Given the description of an element on the screen output the (x, y) to click on. 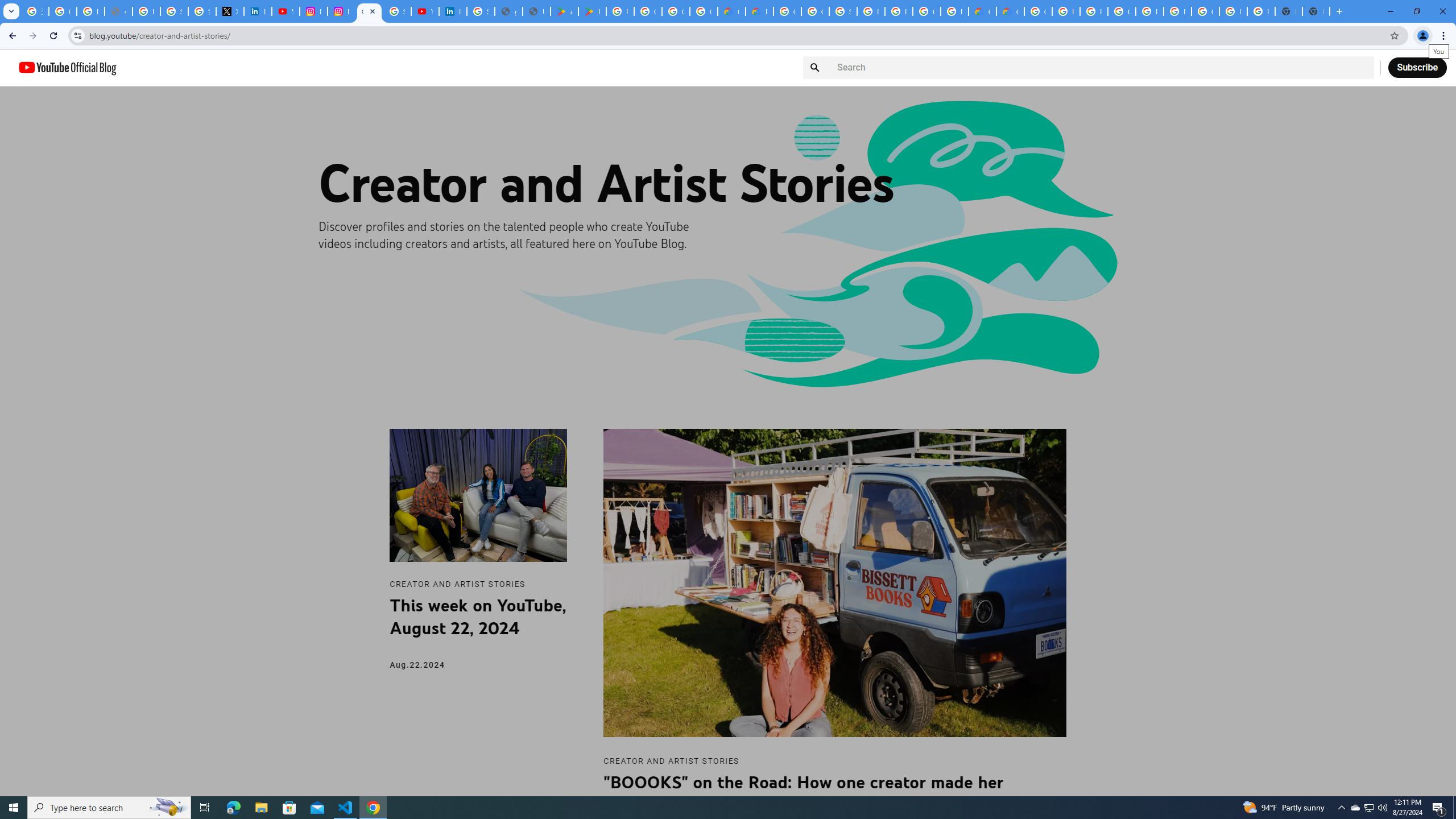
Browse Chrome as a guest - Computer - Google Chrome Help (1065, 11)
Google Cloud Estimate Summary (1010, 11)
Sign in - Google Accounts (397, 11)
Google Cloud Platform (787, 11)
Google Cloud Platform (926, 11)
